Given the description of an element on the screen output the (x, y) to click on. 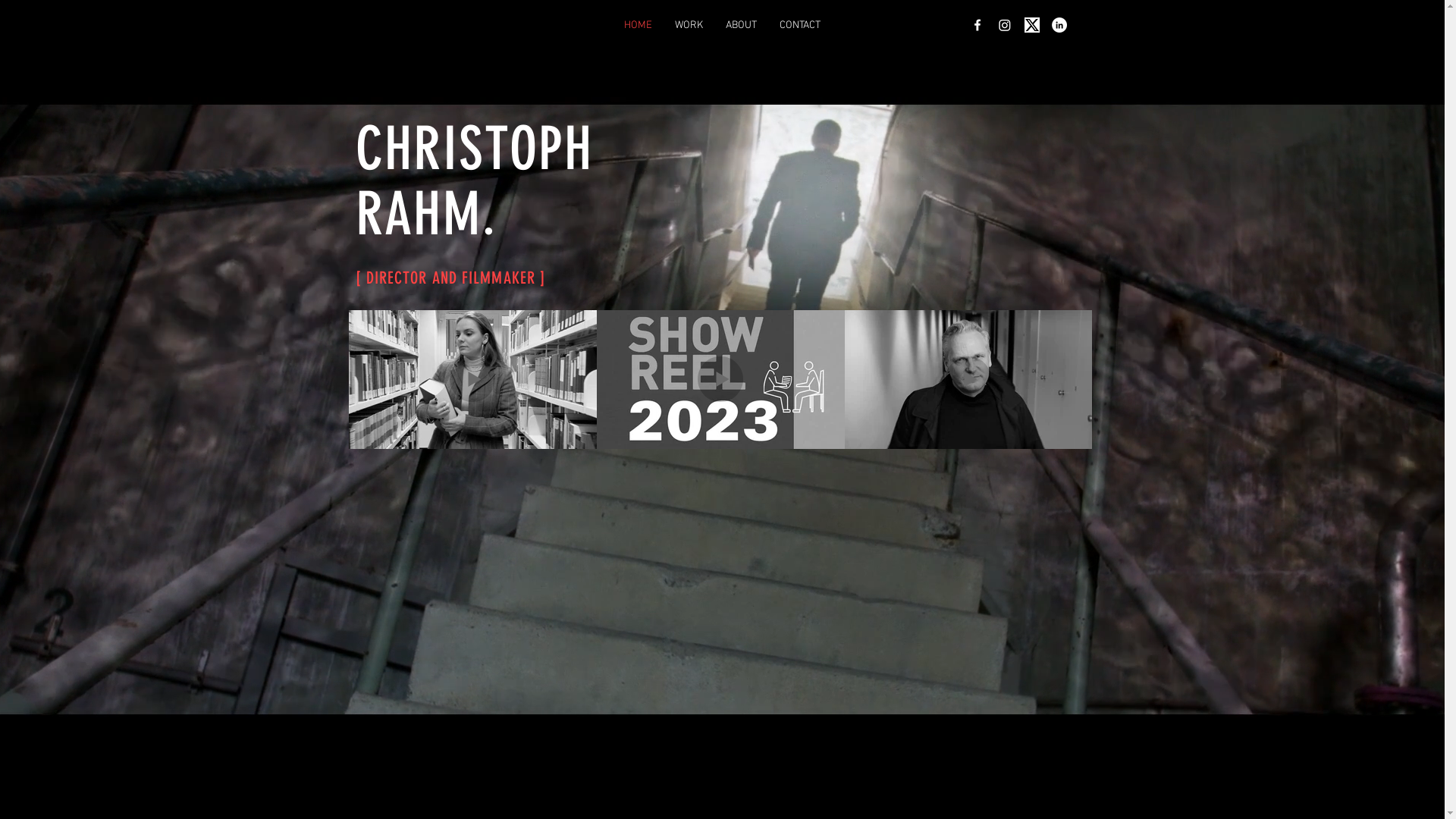
HOME Element type: text (637, 25)
WORK Element type: text (687, 25)
ABOUT Element type: text (741, 25)
CONTACT Element type: text (799, 25)
